Given the description of an element on the screen output the (x, y) to click on. 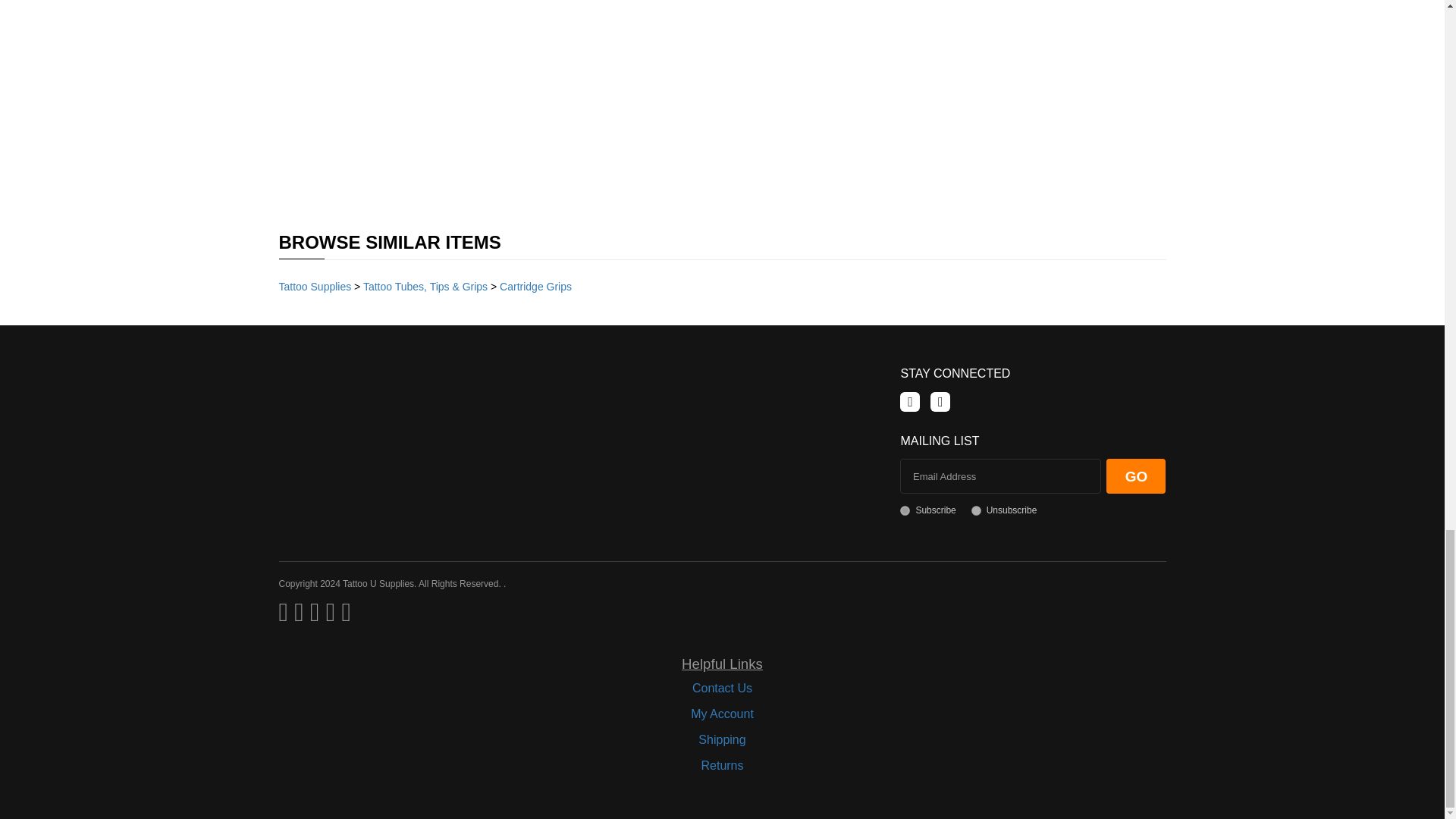
1 (904, 510)
Like Us on Facebook (909, 401)
0 (976, 510)
Follow Us on Instagram (940, 401)
